Given the description of an element on the screen output the (x, y) to click on. 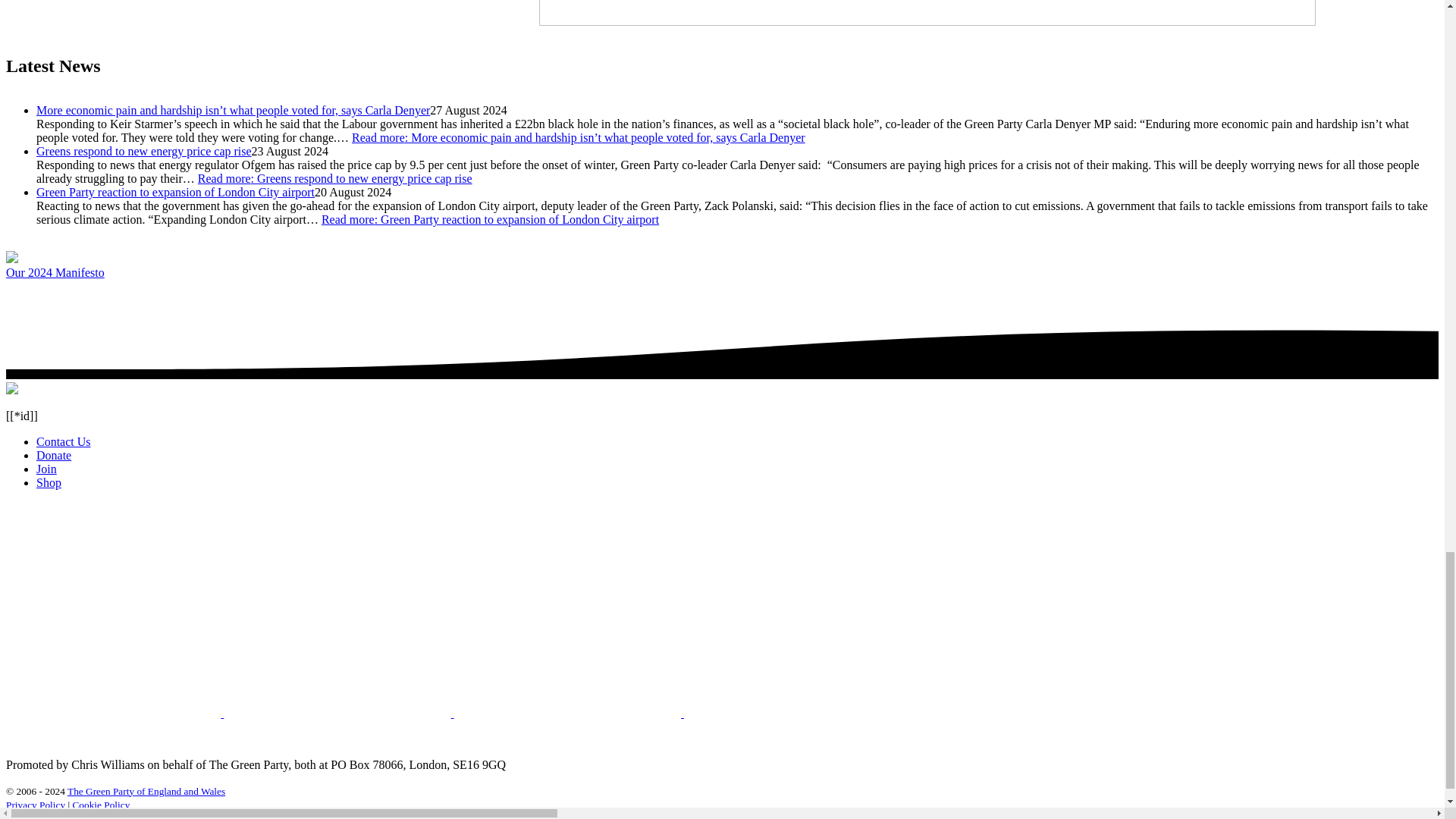
Our 2024 Manifesto (54, 272)
Privacy Policy (35, 804)
Read more: Greens respond to new energy price cap rise (334, 178)
The Green Party of England and Wales (145, 790)
Green Party reaction to expansion of London City airport (175, 192)
Join (46, 468)
Greens respond to new energy price cap rise (143, 151)
Contact Us (63, 440)
Donate (53, 454)
